Given the description of an element on the screen output the (x, y) to click on. 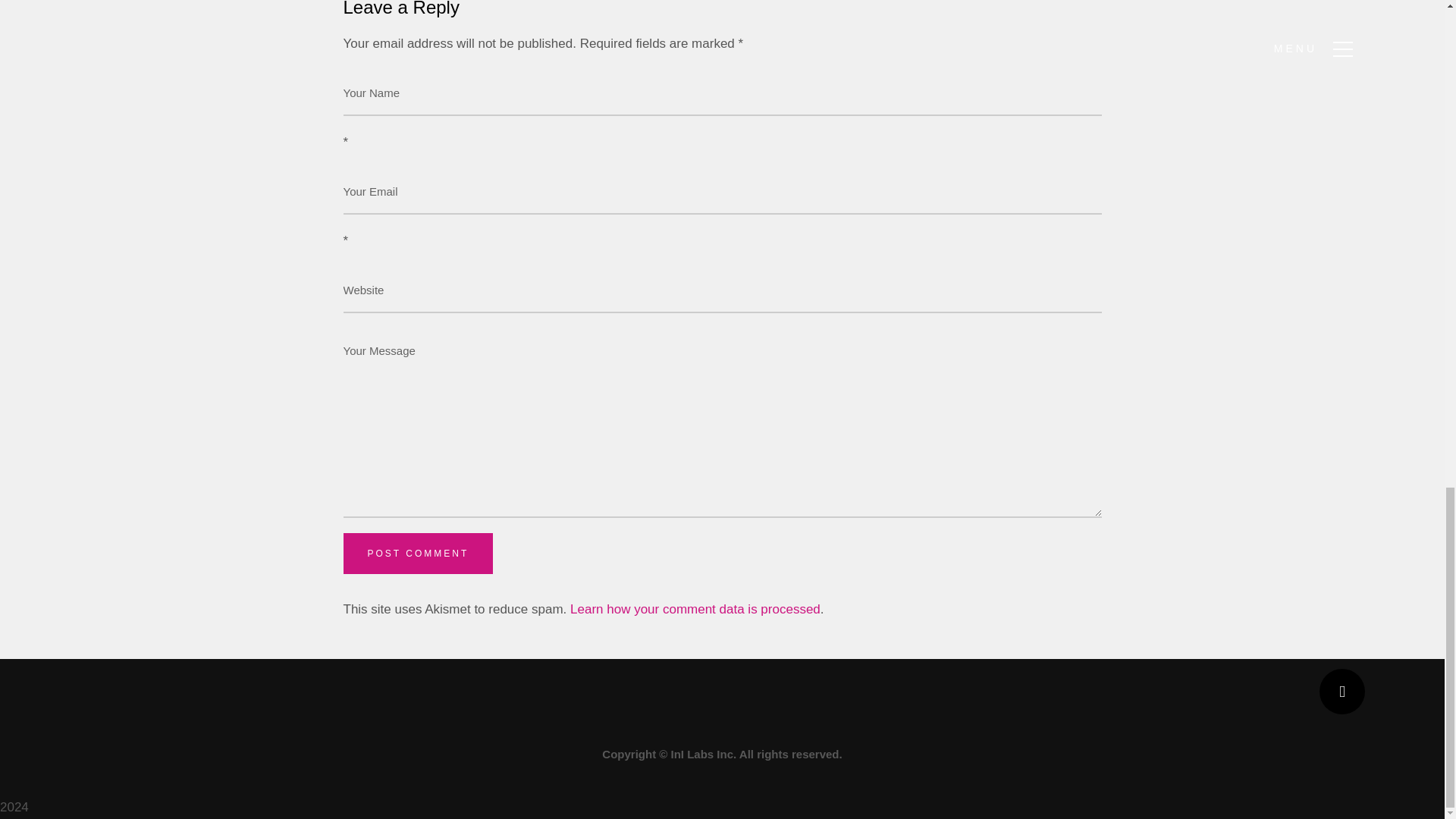
Post Comment (417, 553)
Back to Top (1342, 691)
Post Comment (417, 553)
Learn how your comment data is processed (695, 608)
